Given the description of an element on the screen output the (x, y) to click on. 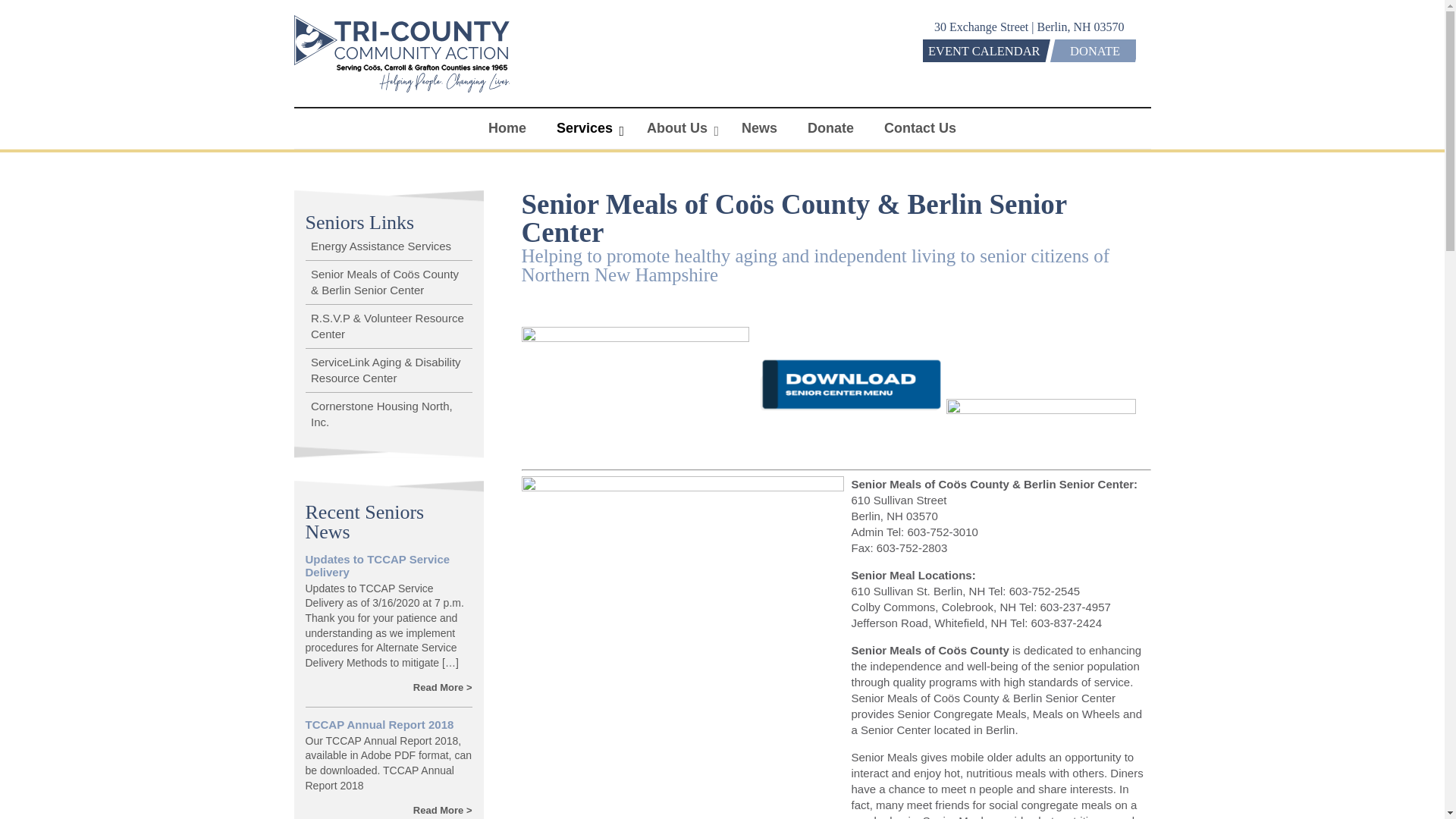
Home (507, 128)
Contact Us (920, 128)
EVENT CALENDAR (981, 50)
DONATE (1092, 50)
About Us (678, 128)
Services (586, 128)
News (759, 128)
Donate (830, 128)
TCCAP (402, 91)
